Given the description of an element on the screen output the (x, y) to click on. 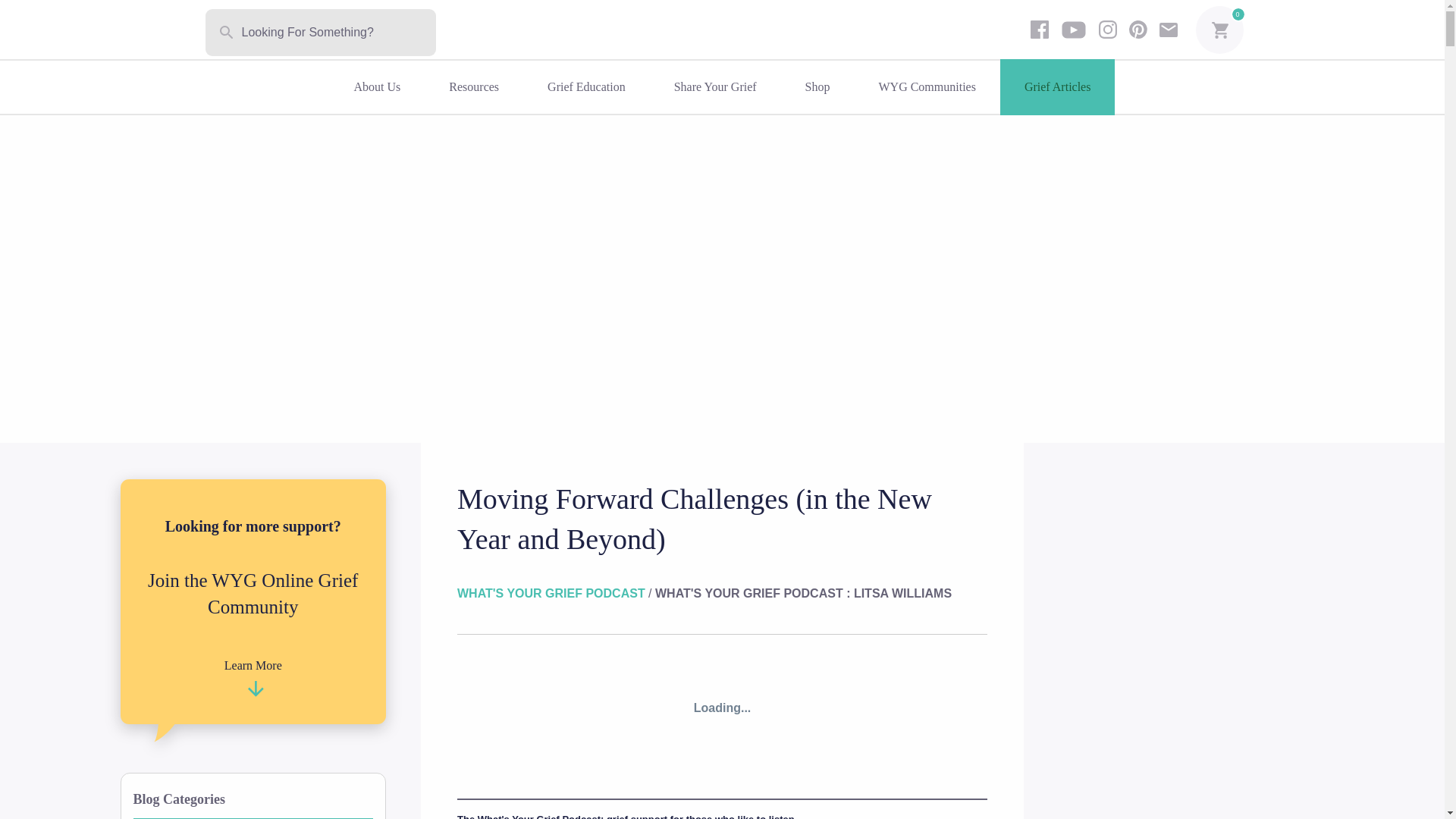
Grief Education (585, 86)
Learn More (252, 676)
About Us (377, 86)
Resources (473, 86)
WYG Communities (925, 86)
WHAT'S YOUR GRIEF PODCAST (552, 593)
What's Your Grief Podcast (552, 593)
Shop (817, 86)
View your shopping cart (1219, 31)
Embed Player (722, 708)
